Given the description of an element on the screen output the (x, y) to click on. 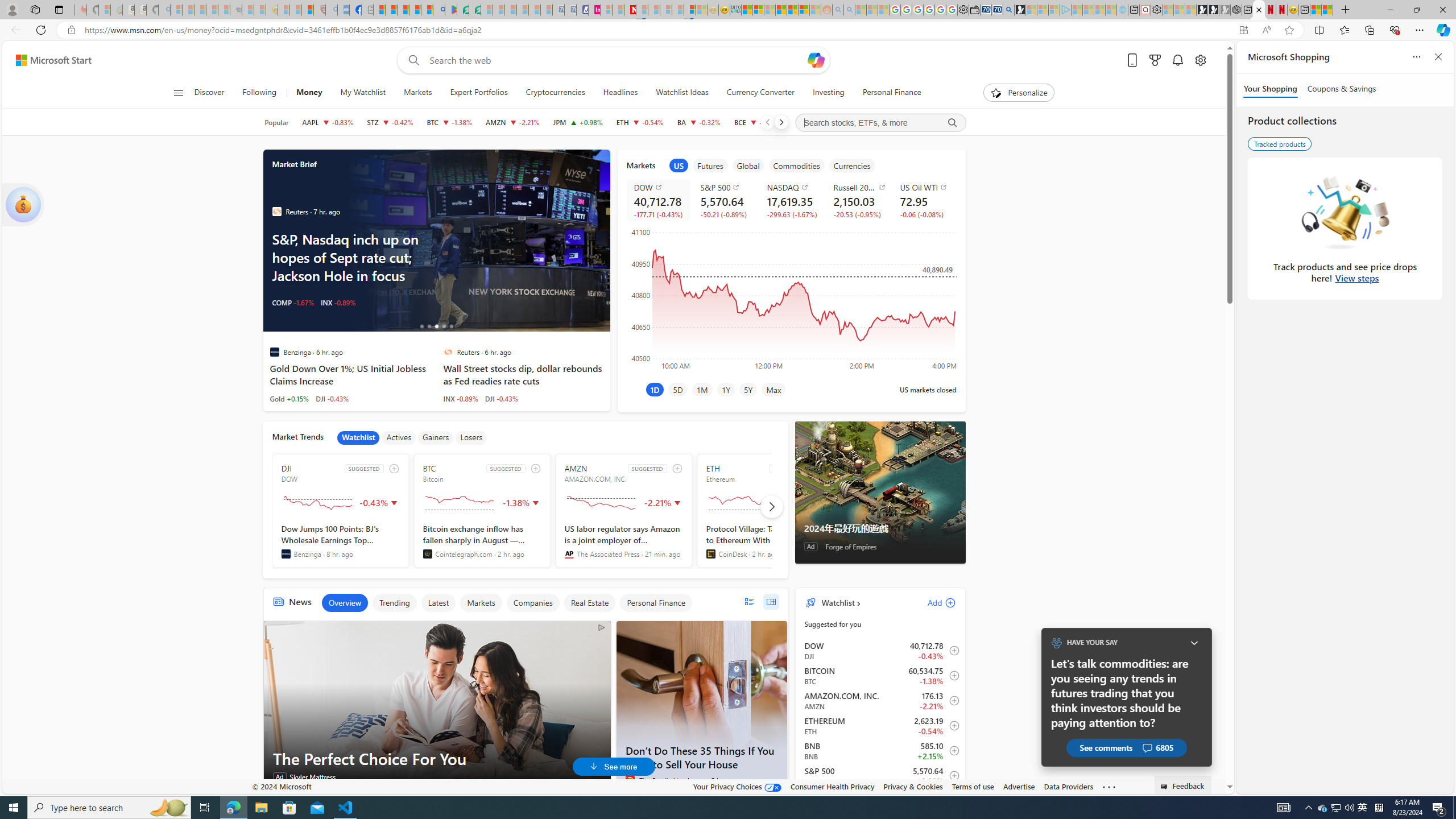
Class: button-glyph (178, 92)
JPM JPMORGAN CHASE & CO. increase 216.71 +2.11 +0.98% (578, 122)
Skip to footer (46, 59)
Class: recharts-surface (791, 298)
ETH Ethereum decrease 2,623.19 -14.14 -0.54% (639, 122)
ETH Ethereum decrease 2,623.19 -14.14 -0.54% item3 (880, 725)
